Given the description of an element on the screen output the (x, y) to click on. 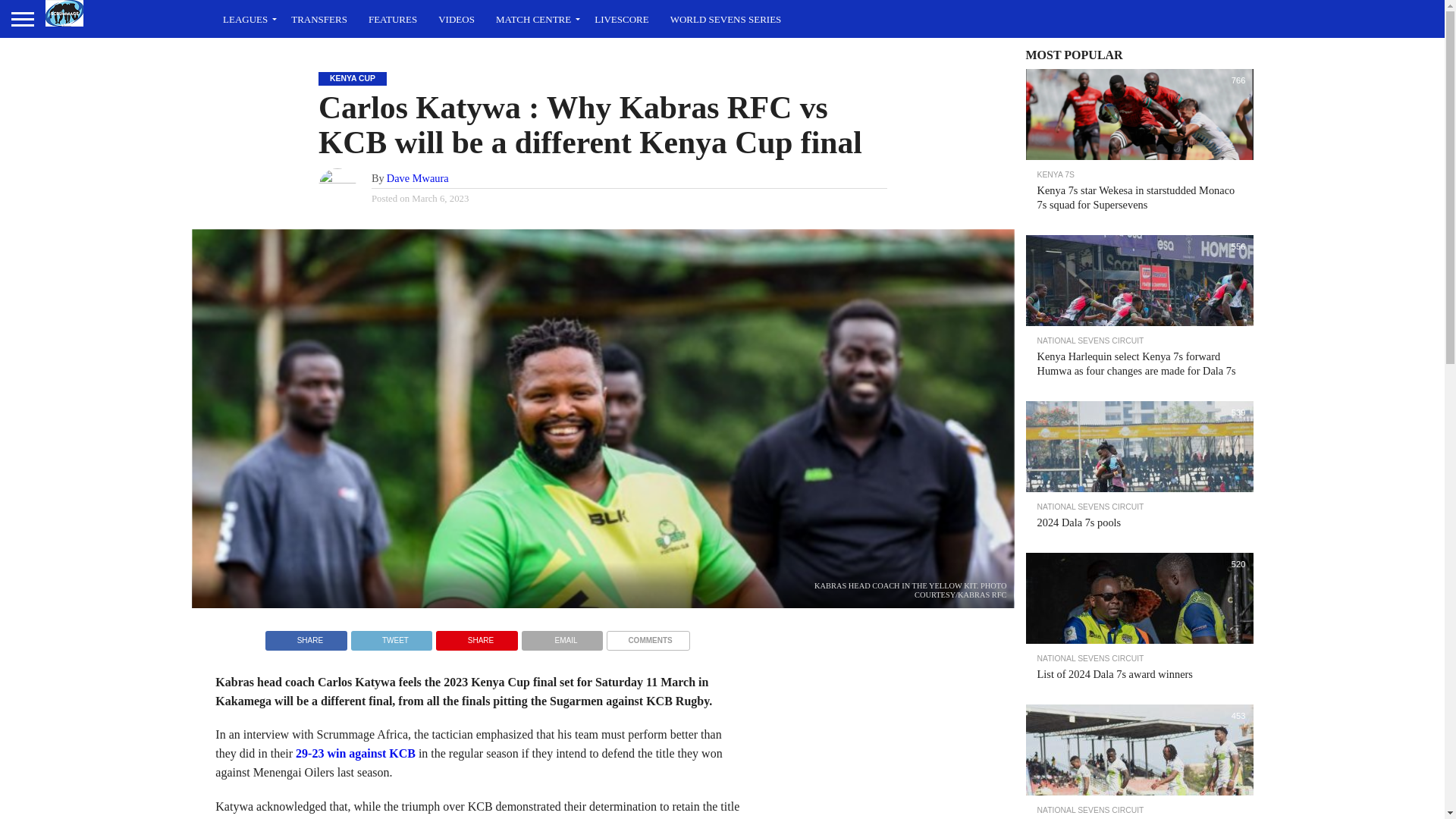
FEATURES (393, 18)
MATCH CENTRE (533, 18)
Pin This Post (476, 635)
VIDEOS (456, 18)
Tweet This Post (391, 635)
Posts by Dave Mwaura (417, 177)
TRANSFERS (319, 18)
LEAGUES (246, 18)
WORLD SEVENS SERIES (725, 18)
LIVESCORE (621, 18)
